Given the description of an element on the screen output the (x, y) to click on. 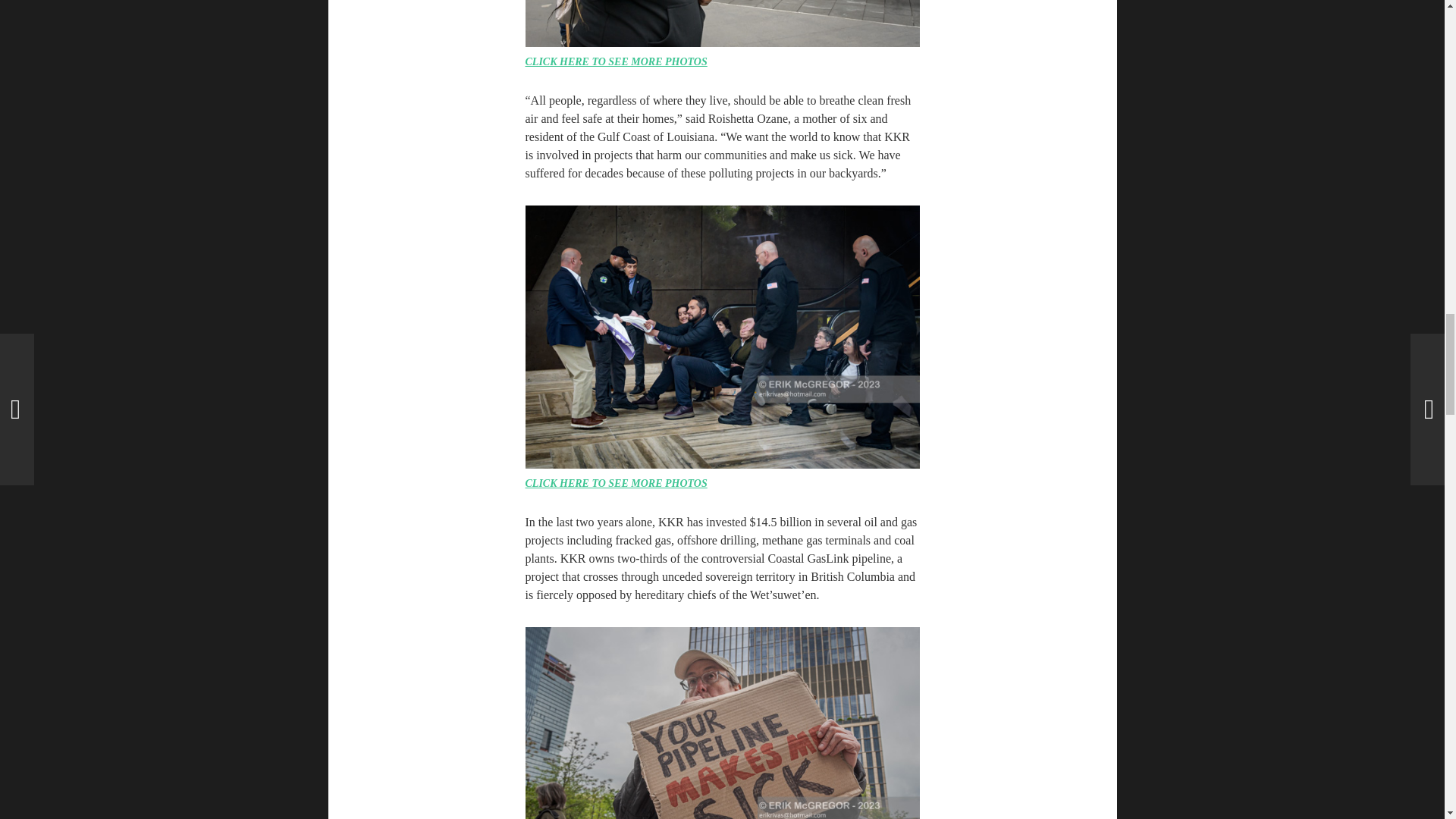
CLICK HERE TO SEE MORE PHOTOS (615, 482)
CLICK HERE TO SEE MORE PHOTOS (615, 61)
